Given the description of an element on the screen output the (x, y) to click on. 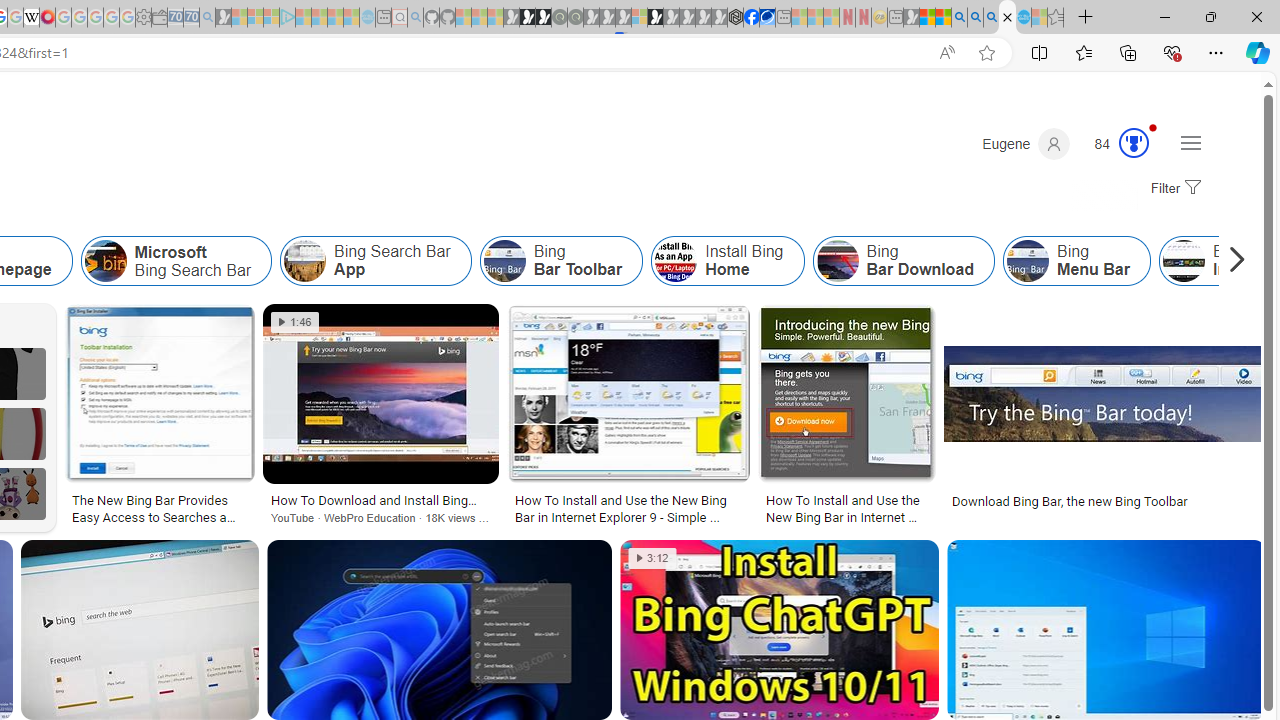
Scroll right (1231, 260)
Filter (1173, 189)
Download Bing Bar, the new Bing Toolbar (1105, 500)
Class: item col (1076, 260)
Microsoft Bing Search Bar (175, 260)
Bing Bar Toolbar (561, 260)
Microsoft Bing Search Bar (105, 260)
Install Bing Home (727, 260)
AirNow.gov (767, 17)
